Given the description of an element on the screen output the (x, y) to click on. 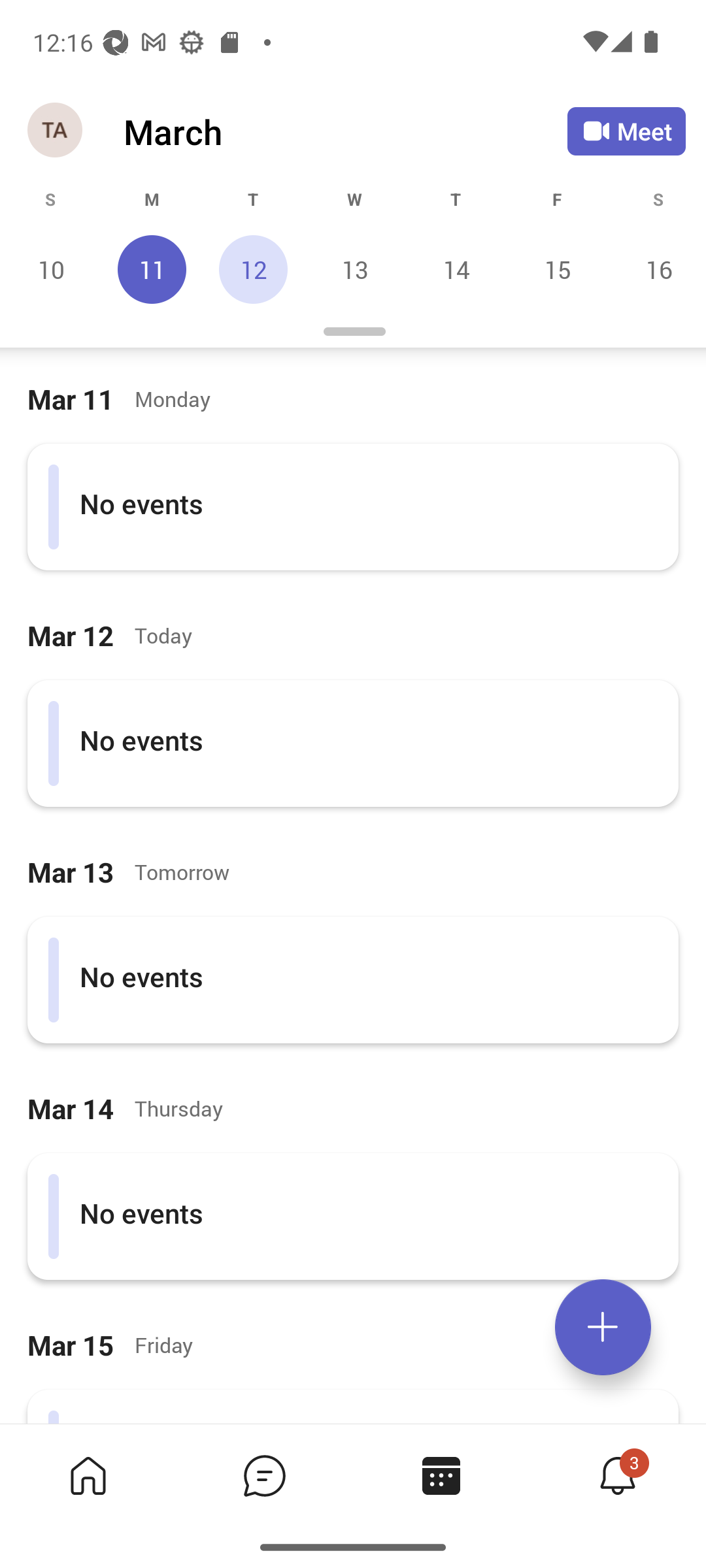
Navigation (56, 130)
Meet Meet now or join with an ID (626, 130)
March March Calendar Agenda View (345, 131)
Sunday, March 10 10 (50, 269)
Monday, March 11, Selected 11 (151, 269)
Tuesday, March 12, Today 12 (253, 269)
Wednesday, March 13 13 (354, 269)
Thursday, March 14 14 (455, 269)
Friday, March 15 15 (556, 269)
Saturday, March 16 16 (656, 269)
Expand meetings menu (602, 1327)
Home tab,1 of 4, not selected (88, 1475)
Chat tab,2 of 4, not selected (264, 1475)
Calendar tab, 3 of 4 (441, 1475)
Activity tab,4 of 4, not selected, 3 new 3 (617, 1475)
